Given the description of an element on the screen output the (x, y) to click on. 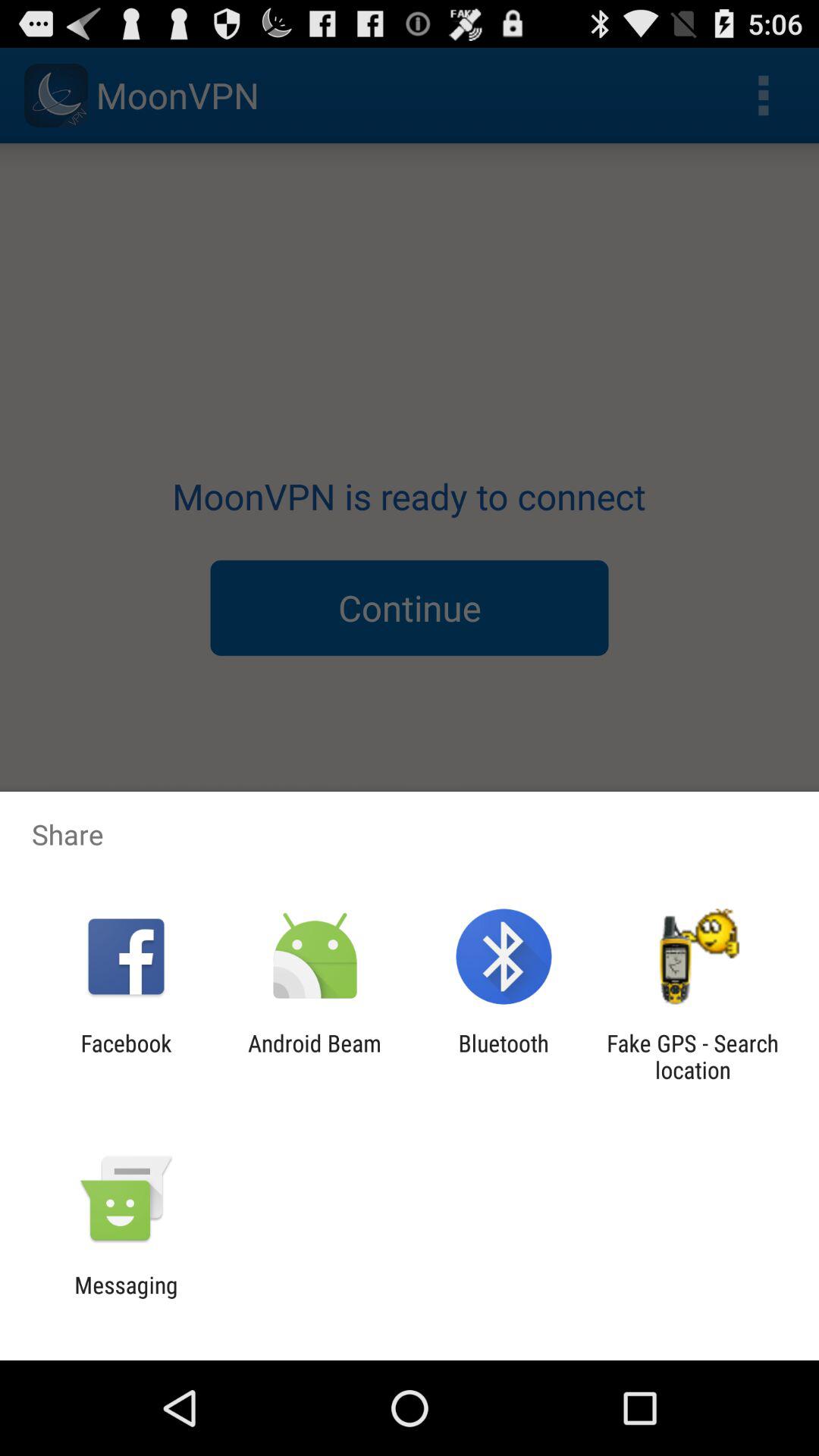
turn off item to the left of the fake gps search (503, 1056)
